Given the description of an element on the screen output the (x, y) to click on. 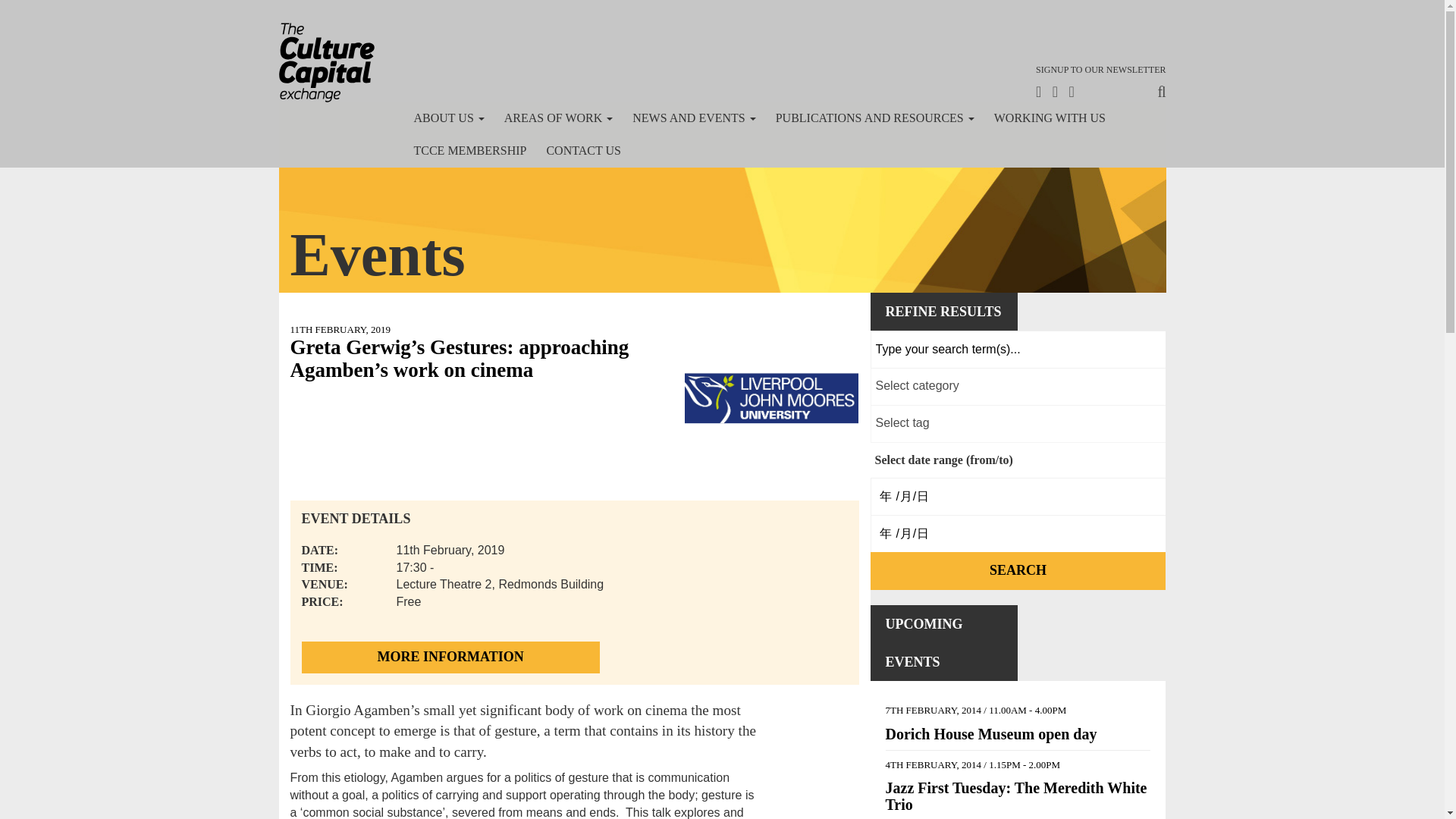
ABOUT US (448, 118)
Search (1018, 570)
AREAS OF WORK (559, 118)
SIGNUP TO OUR NEWSLETTER (1100, 69)
The Culture Capital Exchange - Home (326, 62)
LJMU2 (771, 405)
